Given the description of an element on the screen output the (x, y) to click on. 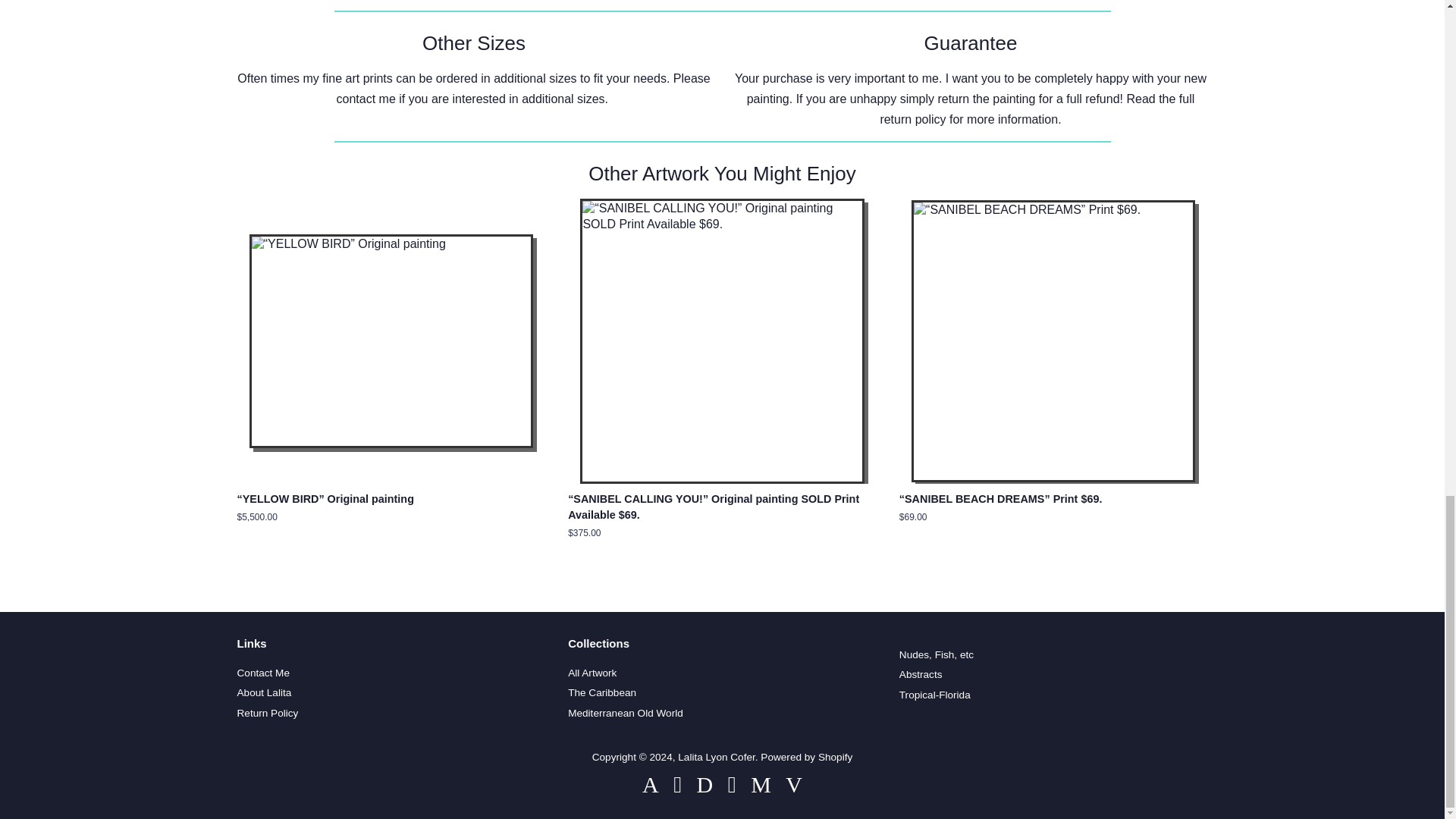
Contact Me (366, 98)
contact me (366, 98)
Contact Me (262, 672)
About Lalita (263, 692)
return policy (911, 119)
Return Policy (911, 119)
